Given the description of an element on the screen output the (x, y) to click on. 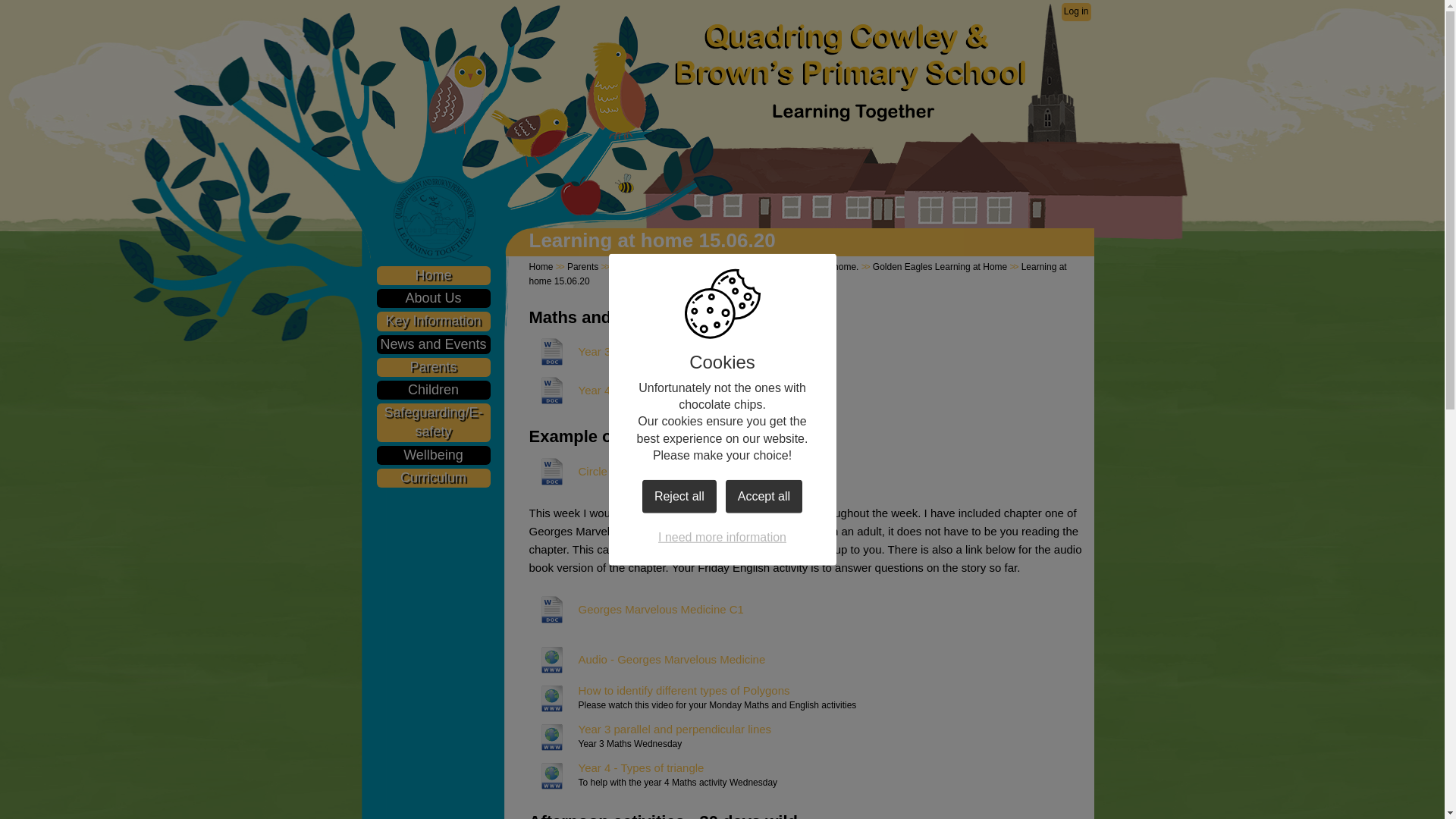
Home Page (849, 56)
Home Page (849, 56)
Year 3 parallel and perpendicular lines (650, 729)
Year 4 Maths and English (618, 390)
Log in (1075, 12)
Circle argument (594, 471)
Audio - Georges Marvelous Medicine (647, 659)
Home (432, 275)
Year 4 - Types of triangle (616, 767)
Home (541, 266)
Golden Eagles Learning at Home (939, 266)
Key Information (432, 321)
About Us (432, 298)
Learning at home 15.06.20 (798, 273)
Georges Marvelous Medicine C1 (636, 609)
